Given the description of an element on the screen output the (x, y) to click on. 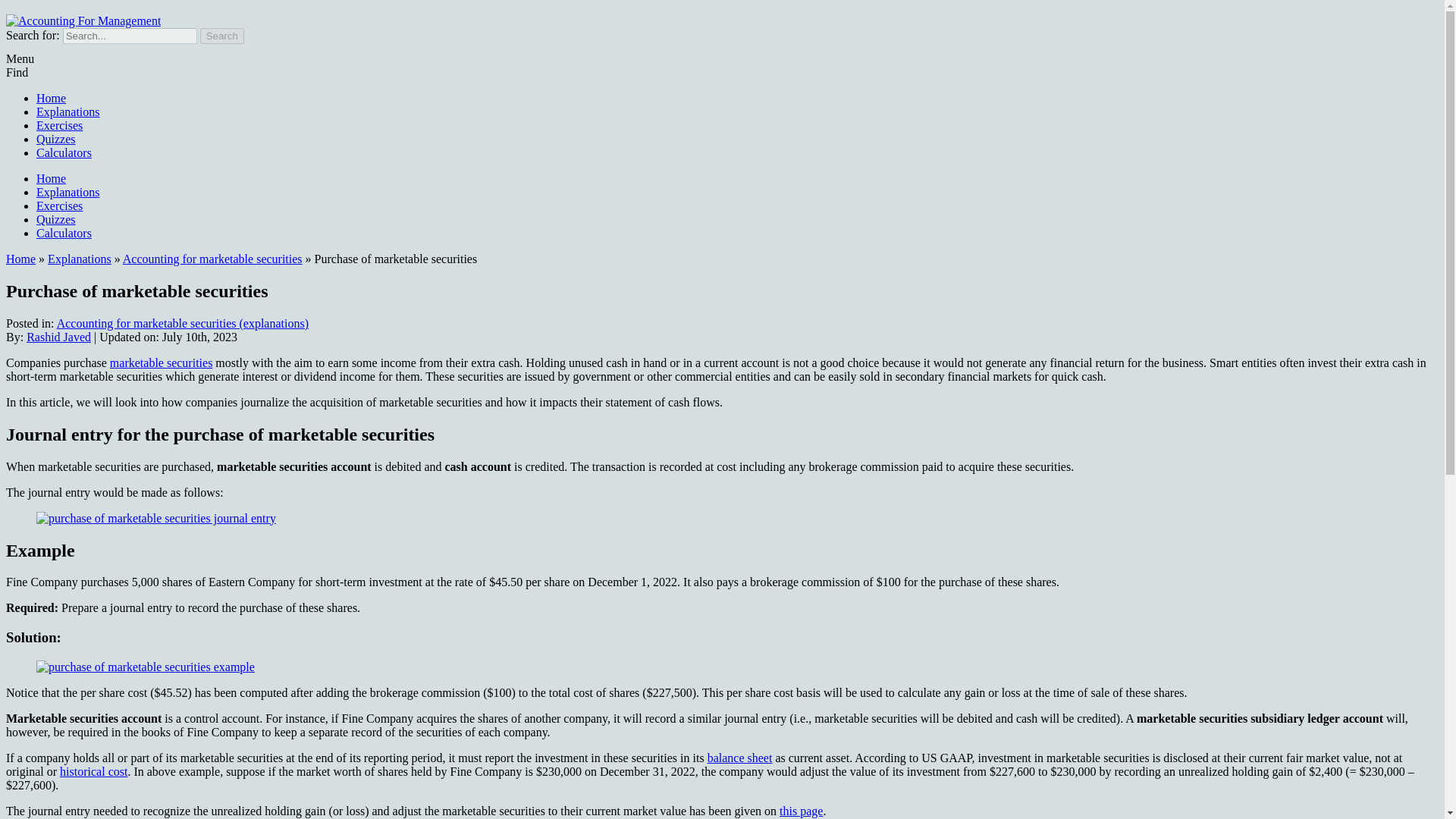
Quizzes (55, 219)
Quizzes (55, 138)
Search (222, 35)
Search (222, 35)
Explanations (80, 258)
Search for: (129, 35)
Exercises (59, 124)
Home (50, 97)
Calculators (63, 232)
purchase of marketable securities example (145, 667)
